Given the description of an element on the screen output the (x, y) to click on. 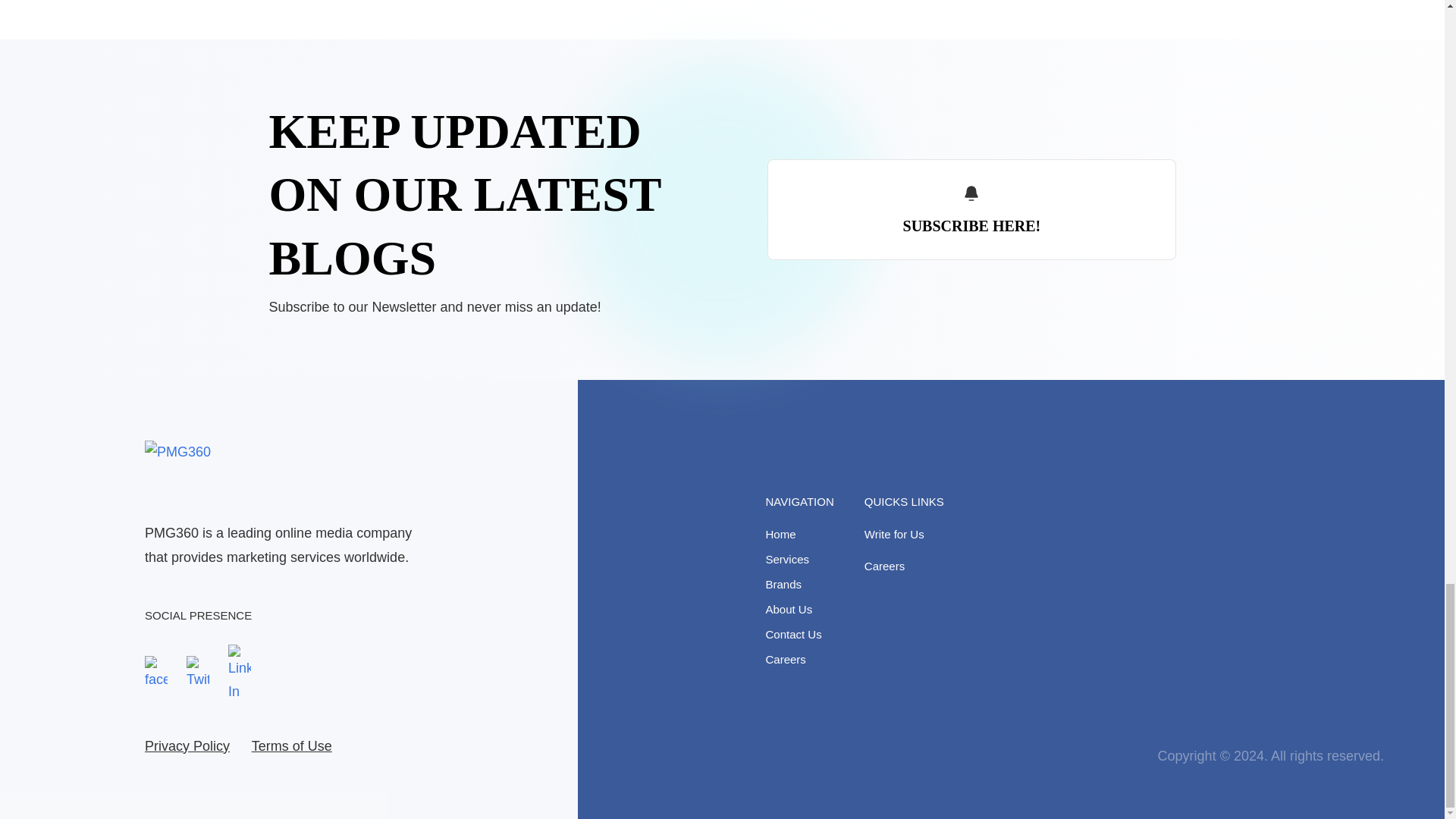
PMG360 (249, 471)
Privacy Policy (187, 744)
